Given the description of an element on the screen output the (x, y) to click on. 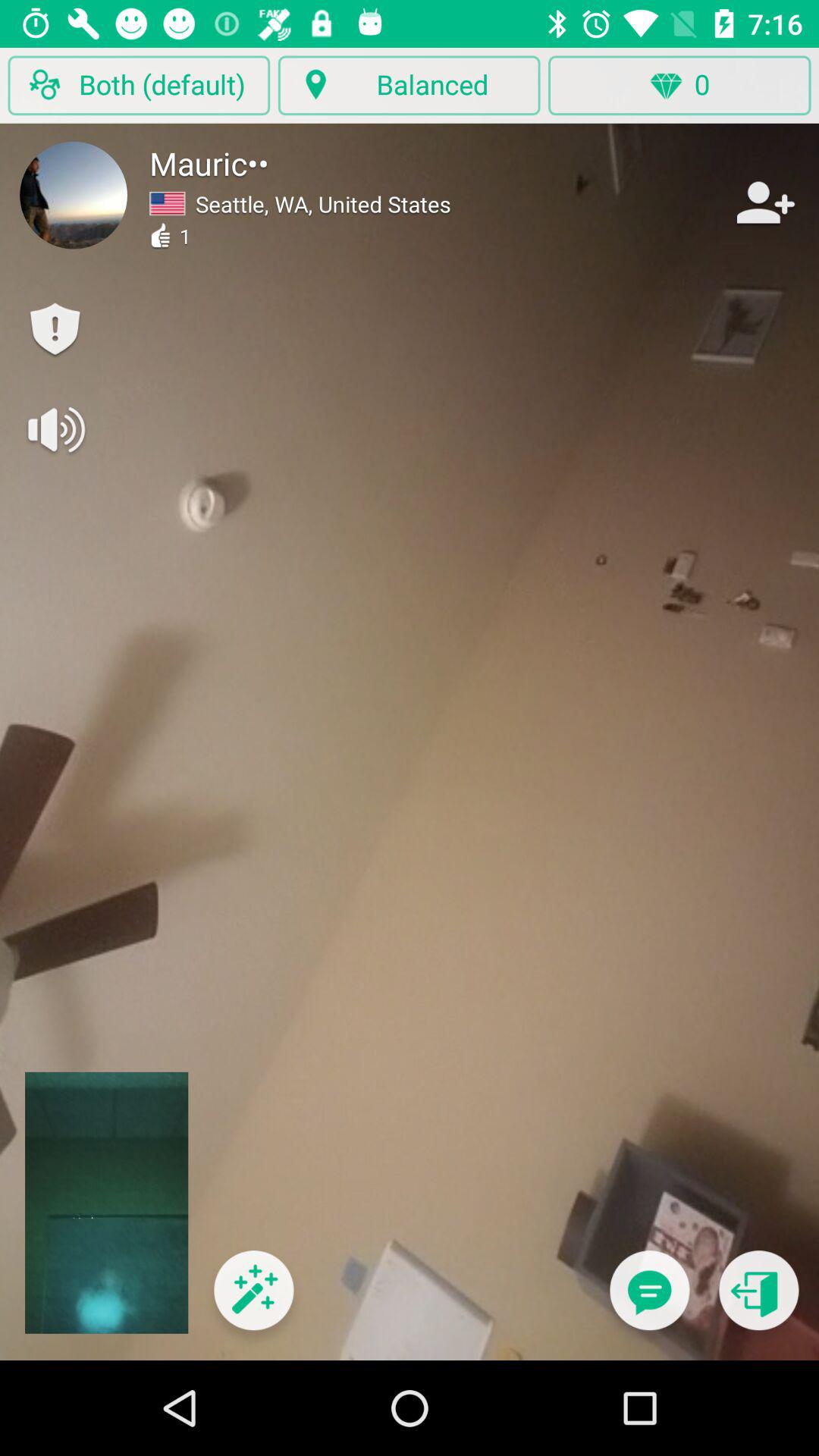
start chat (649, 1300)
